Given the description of an element on the screen output the (x, y) to click on. 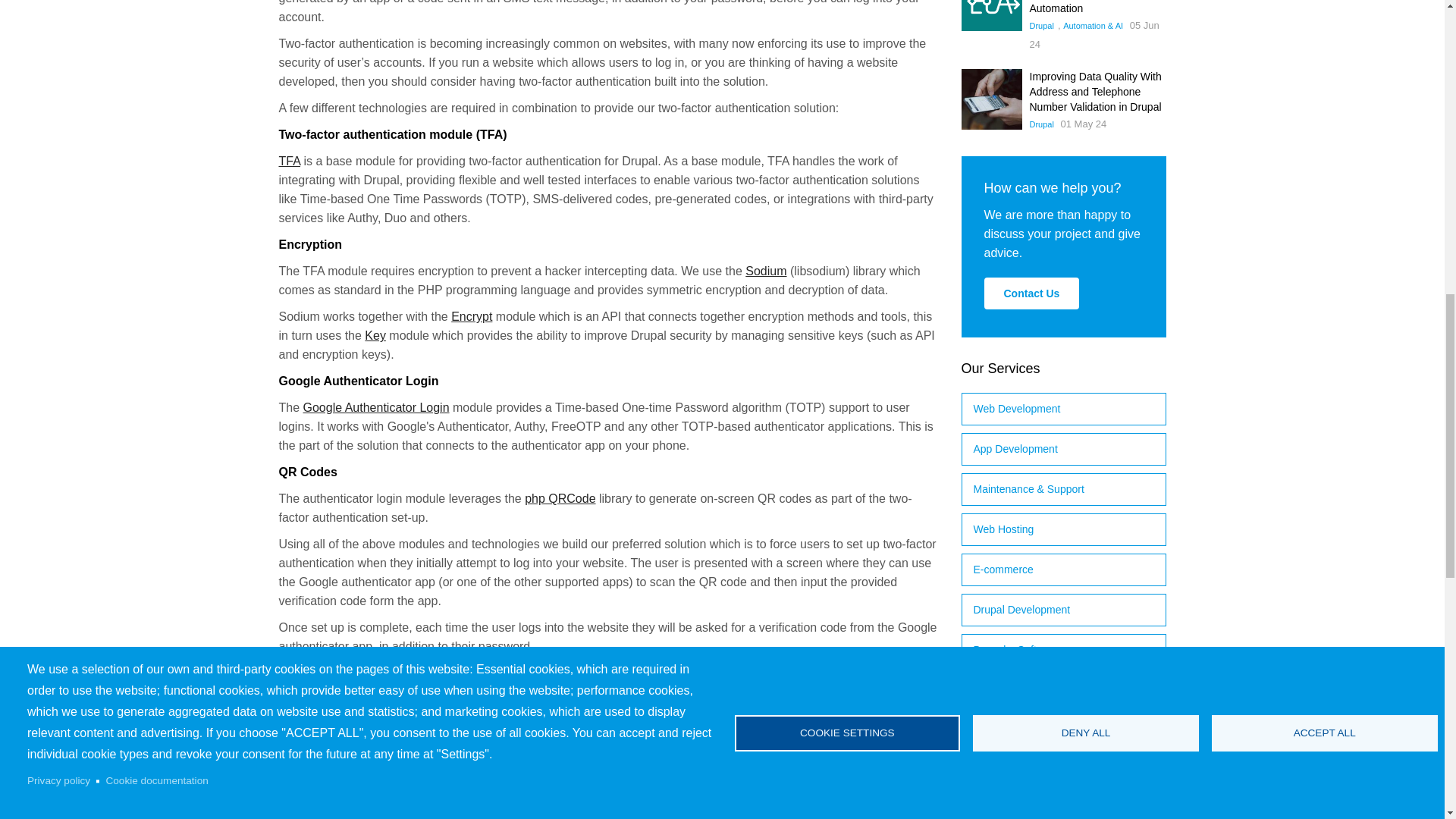
TFA (289, 160)
get in touch (594, 682)
php QRCode (559, 498)
Encrypt (471, 316)
Key (375, 335)
Google Authenticator Login (375, 407)
Sodium (765, 270)
